Given the description of an element on the screen output the (x, y) to click on. 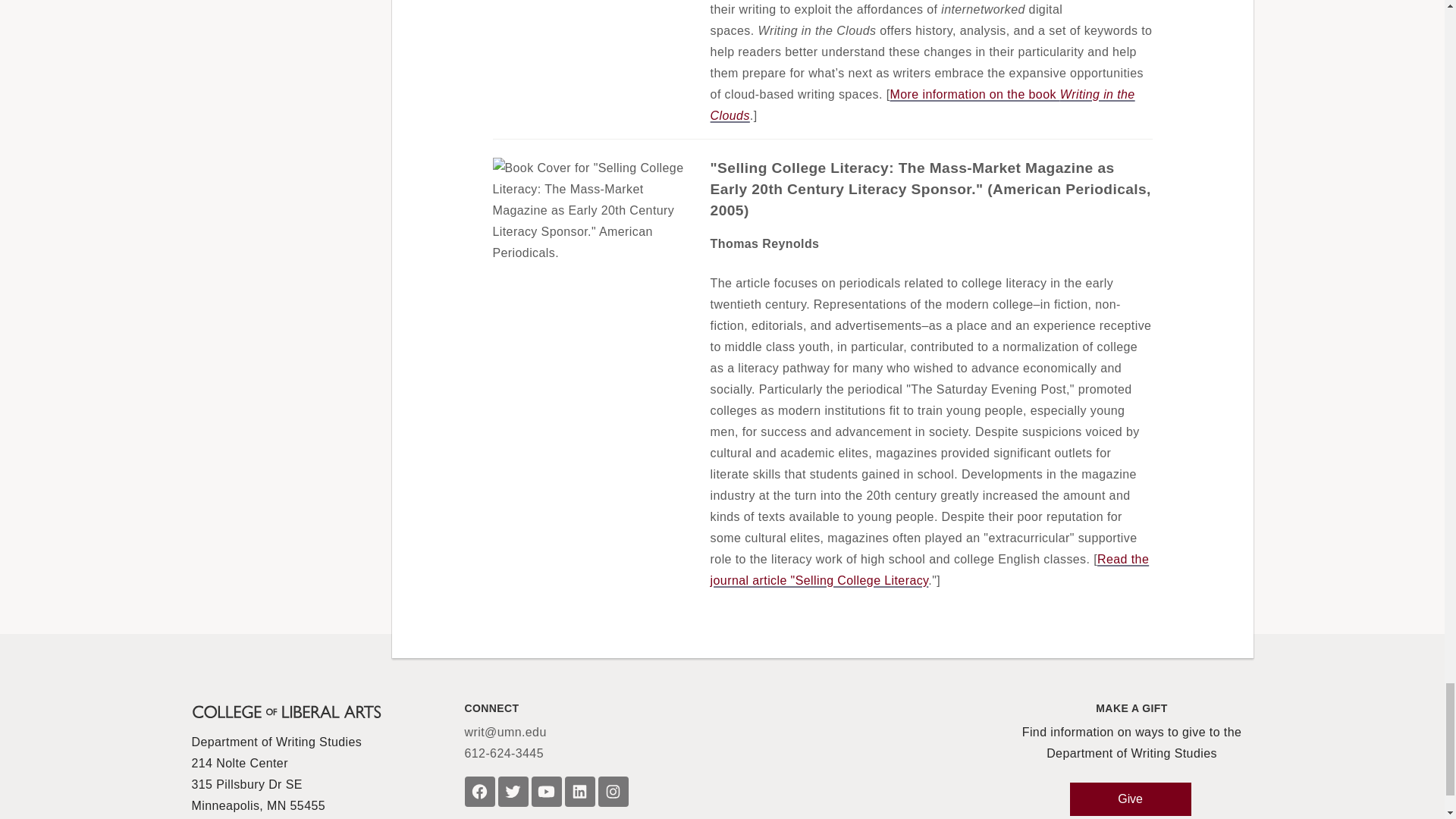
More information on the book Writing in the Clouds (922, 104)
Read the journal article "Selling College Literacy (930, 569)
Intranet (212, 818)
612-624-3445 (503, 752)
